Given the description of an element on the screen output the (x, y) to click on. 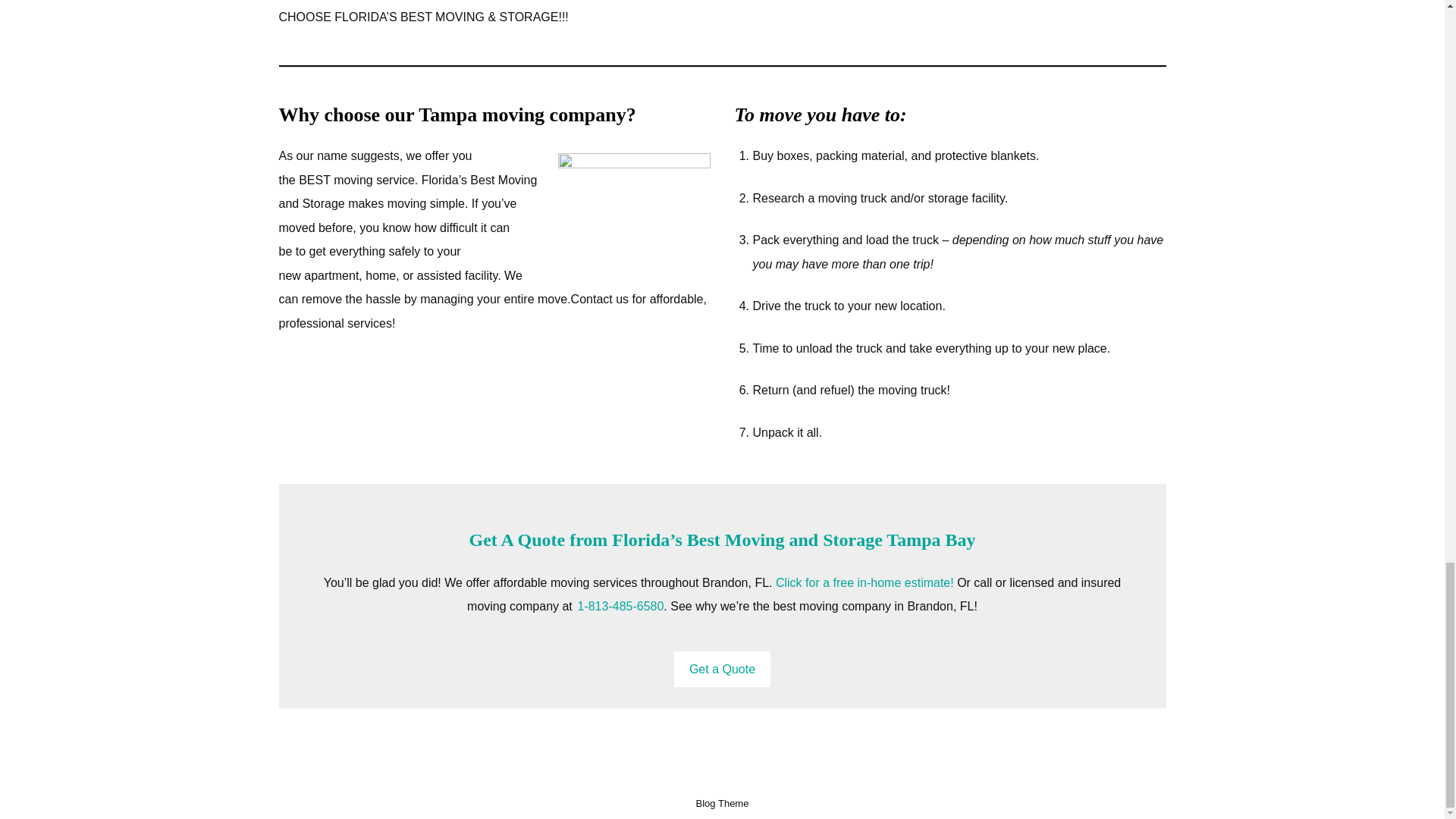
Click for a free in-home estimate! (864, 582)
Get a Quote (722, 669)
1-813-485-6580 (619, 605)
